Given the description of an element on the screen output the (x, y) to click on. 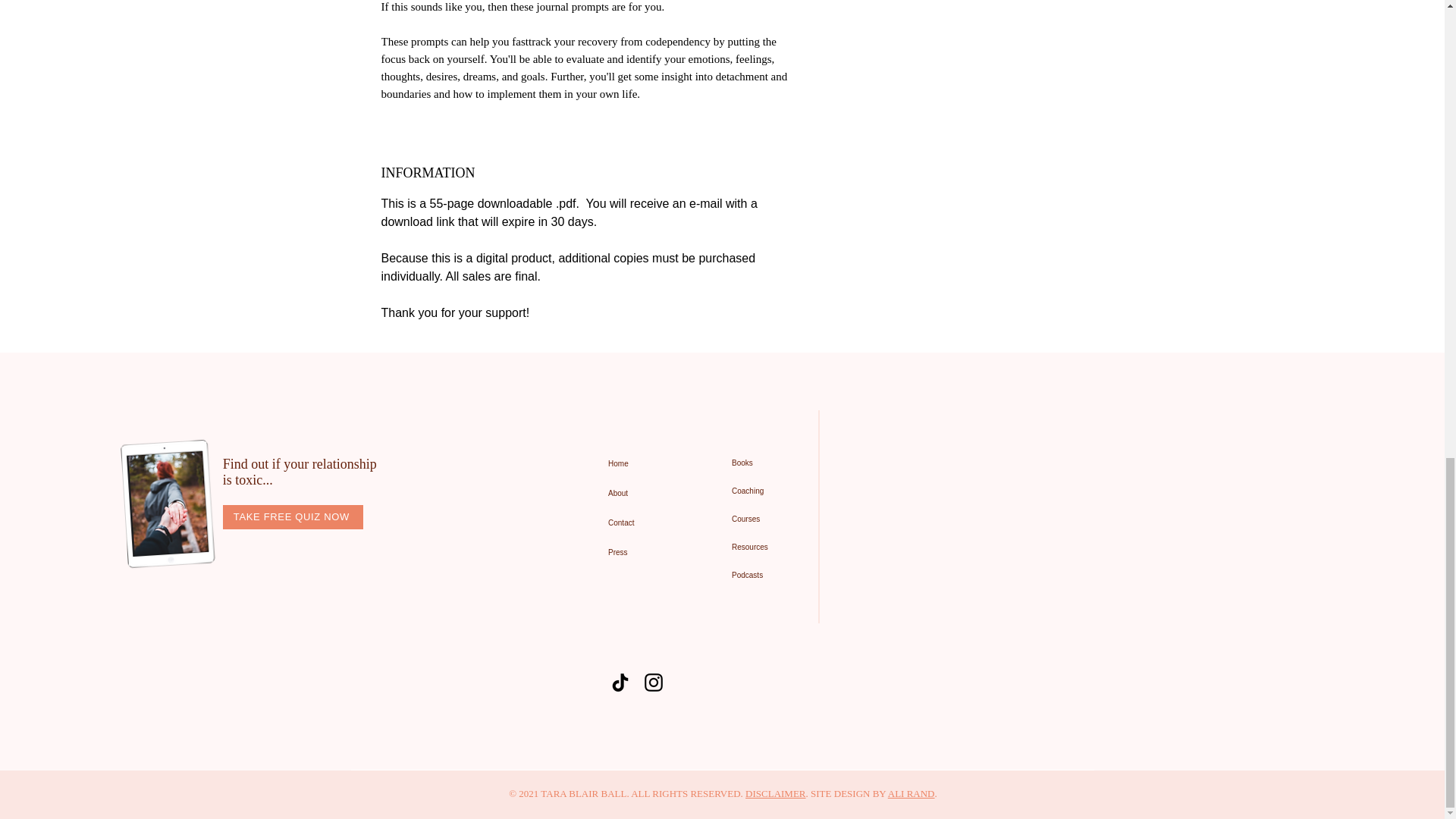
TAKE FREE QUIZ NOW (292, 517)
About (647, 492)
Books (787, 462)
Resources (787, 547)
ALI RAND (911, 793)
Contact (647, 522)
DISCLAIMER (775, 793)
Press (647, 552)
Home (647, 463)
